Given the description of an element on the screen output the (x, y) to click on. 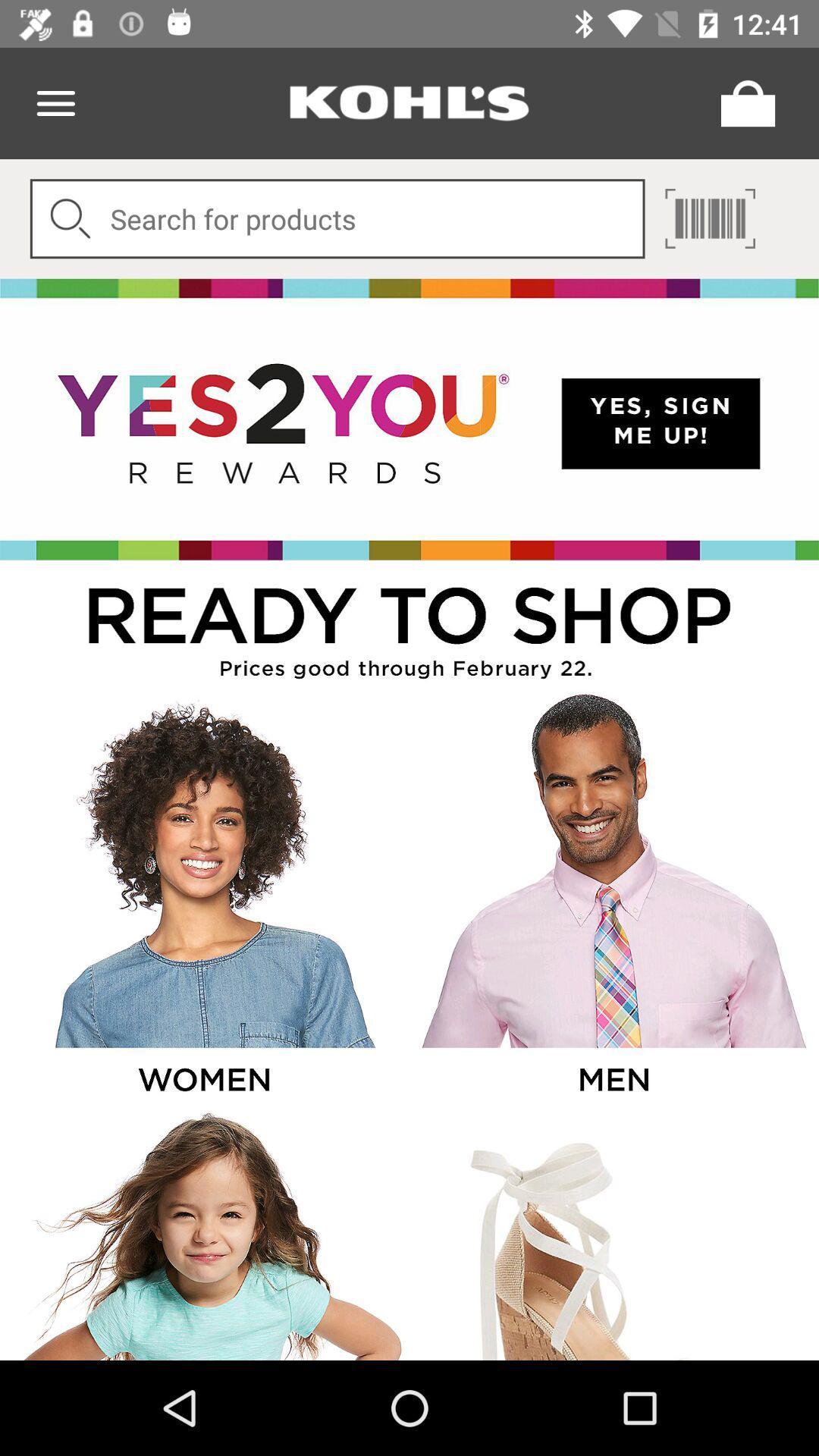
search tool (337, 218)
